Given the description of an element on the screen output the (x, y) to click on. 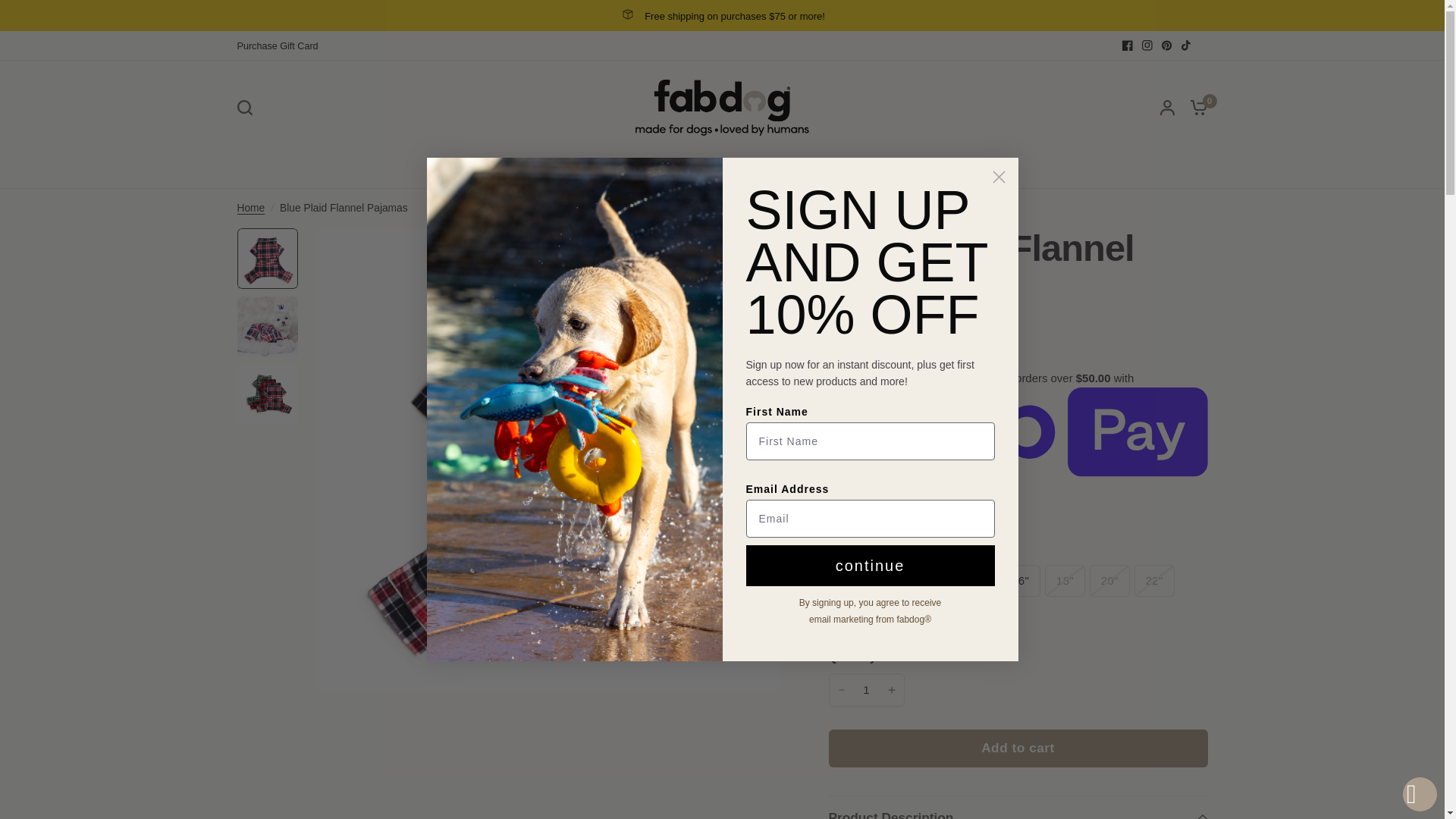
Pinterest (1166, 45)
Facebook (1127, 45)
TikTok (1186, 45)
